Given the description of an element on the screen output the (x, y) to click on. 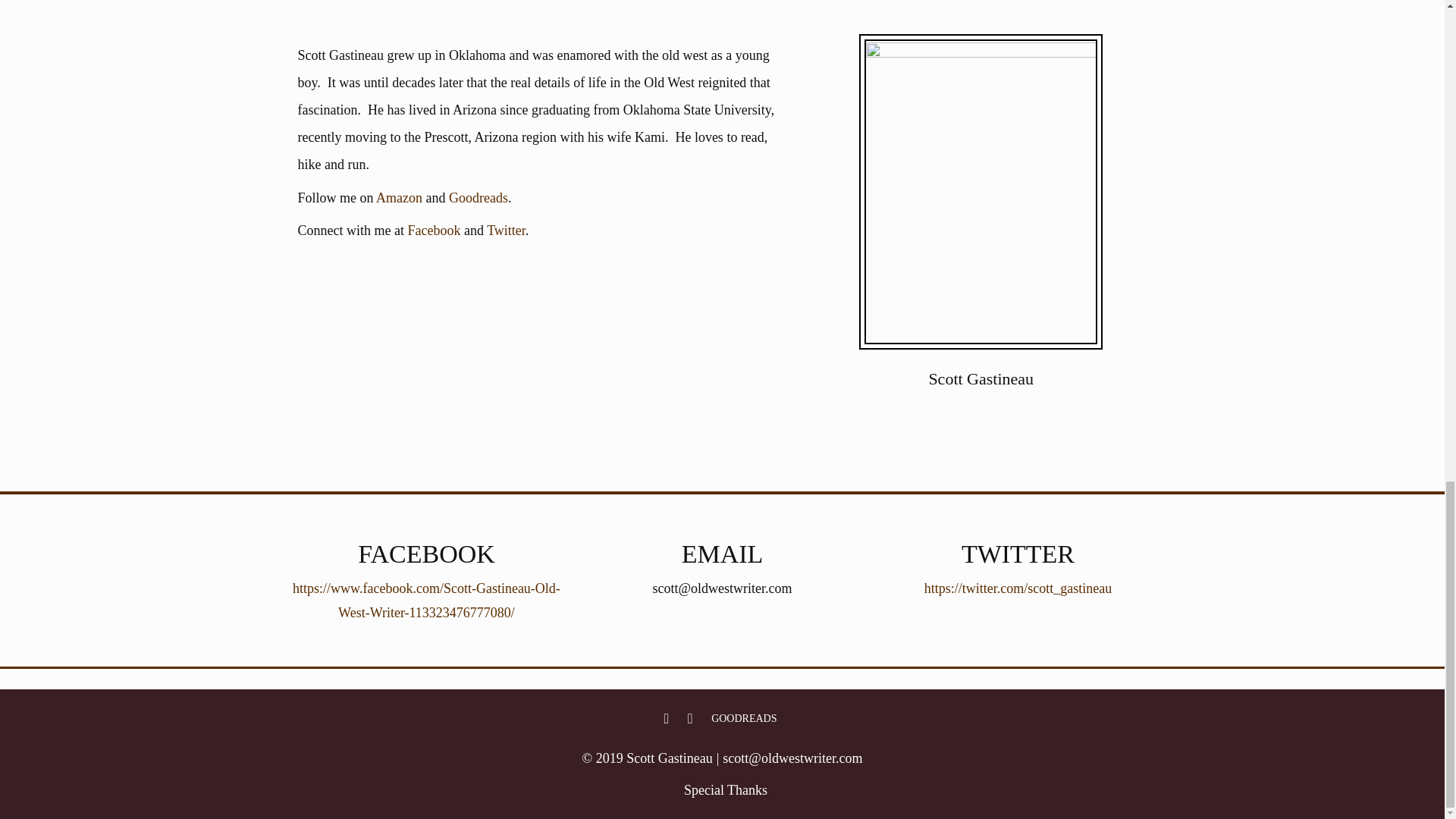
Facebook (433, 230)
Special Thanks (725, 789)
Amazon (398, 197)
Twitter (505, 230)
FACEBOOK (665, 717)
Facebook (665, 717)
Twitter (690, 717)
GOODREADS (743, 717)
Goodreads (478, 197)
TWITTER (690, 717)
